Given the description of an element on the screen output the (x, y) to click on. 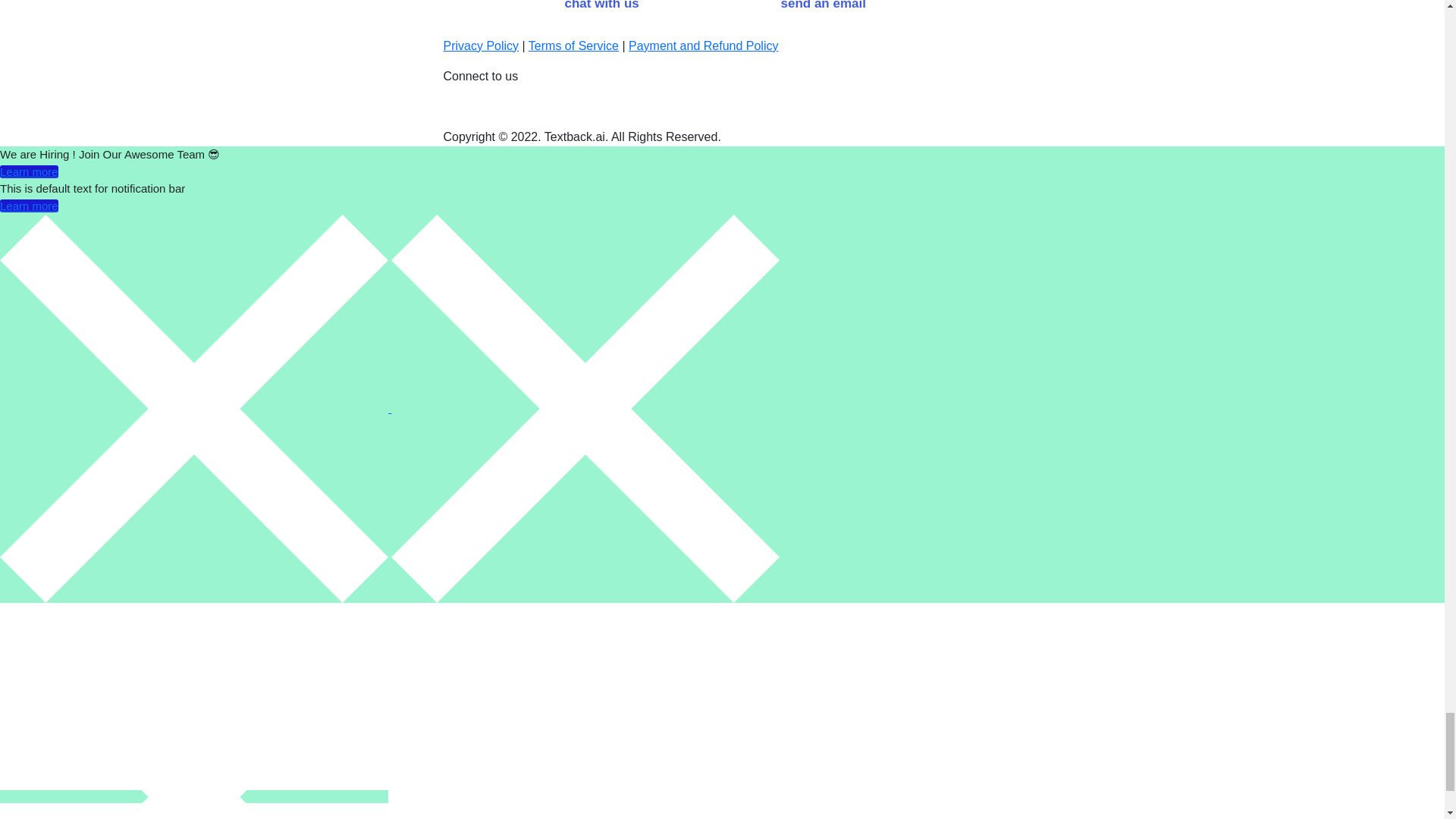
click here (377, 3)
send an email (822, 12)
chat with us (601, 12)
Terms of Service (573, 45)
Privacy Policy (480, 45)
Payment and Refund Policy (702, 45)
